Given the description of an element on the screen output the (x, y) to click on. 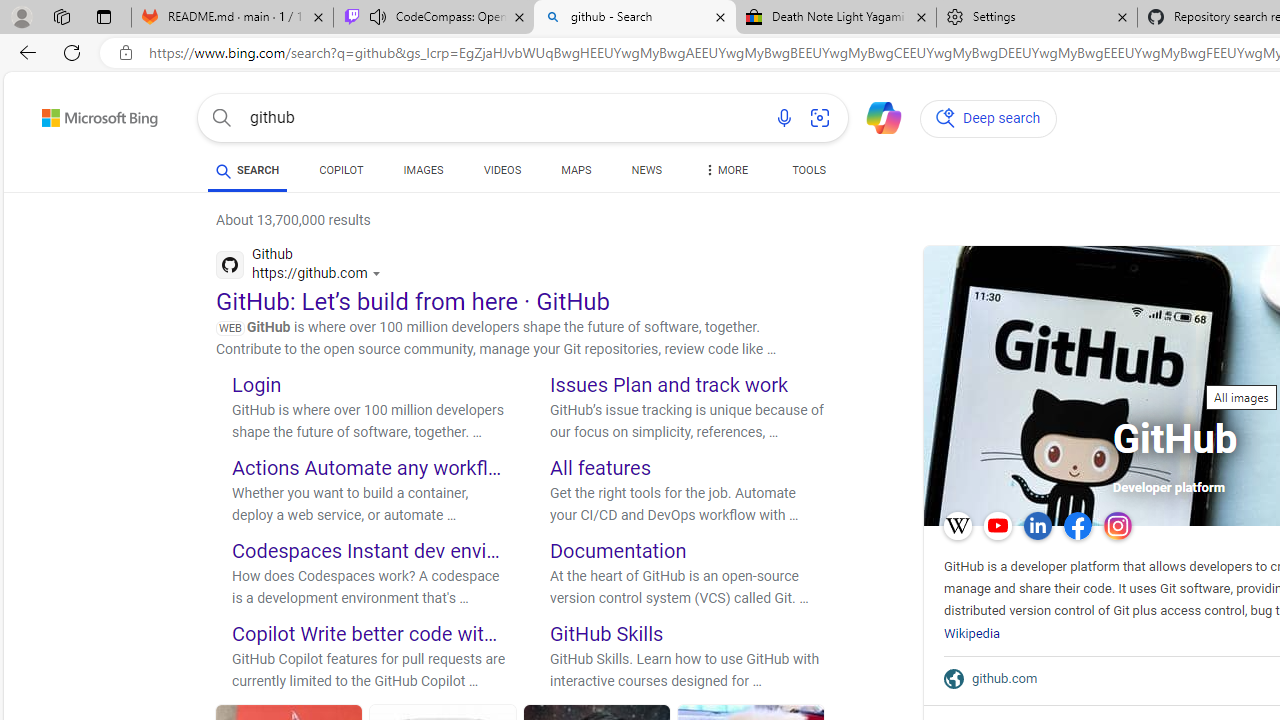
Official Site (957, 678)
Mute tab (377, 16)
NEWS (646, 170)
COPILOT (341, 170)
Search using an image (820, 117)
Actions for this site (378, 273)
Documentation (618, 550)
